Given the description of an element on the screen output the (x, y) to click on. 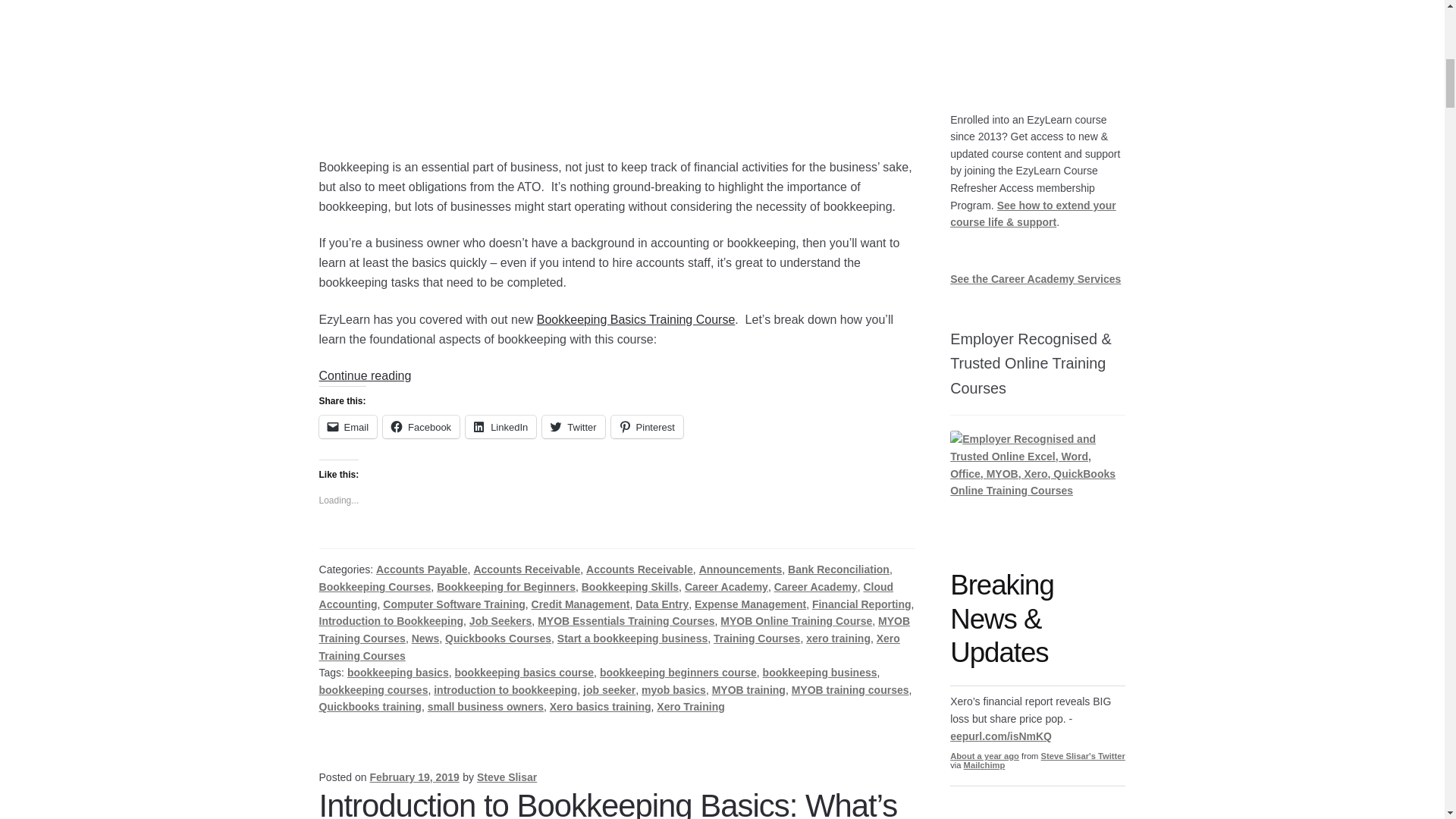
Accounts Payable (421, 569)
Click to share on Facebook (421, 426)
Click to share on Twitter (572, 426)
Click to share on Pinterest (646, 426)
Click to share on LinkedIn (500, 426)
Facebook (421, 426)
Accounts Receivable (639, 569)
Bookkeeping Courses (374, 586)
Twitter (572, 426)
LinkedIn (500, 426)
